Given the description of an element on the screen output the (x, y) to click on. 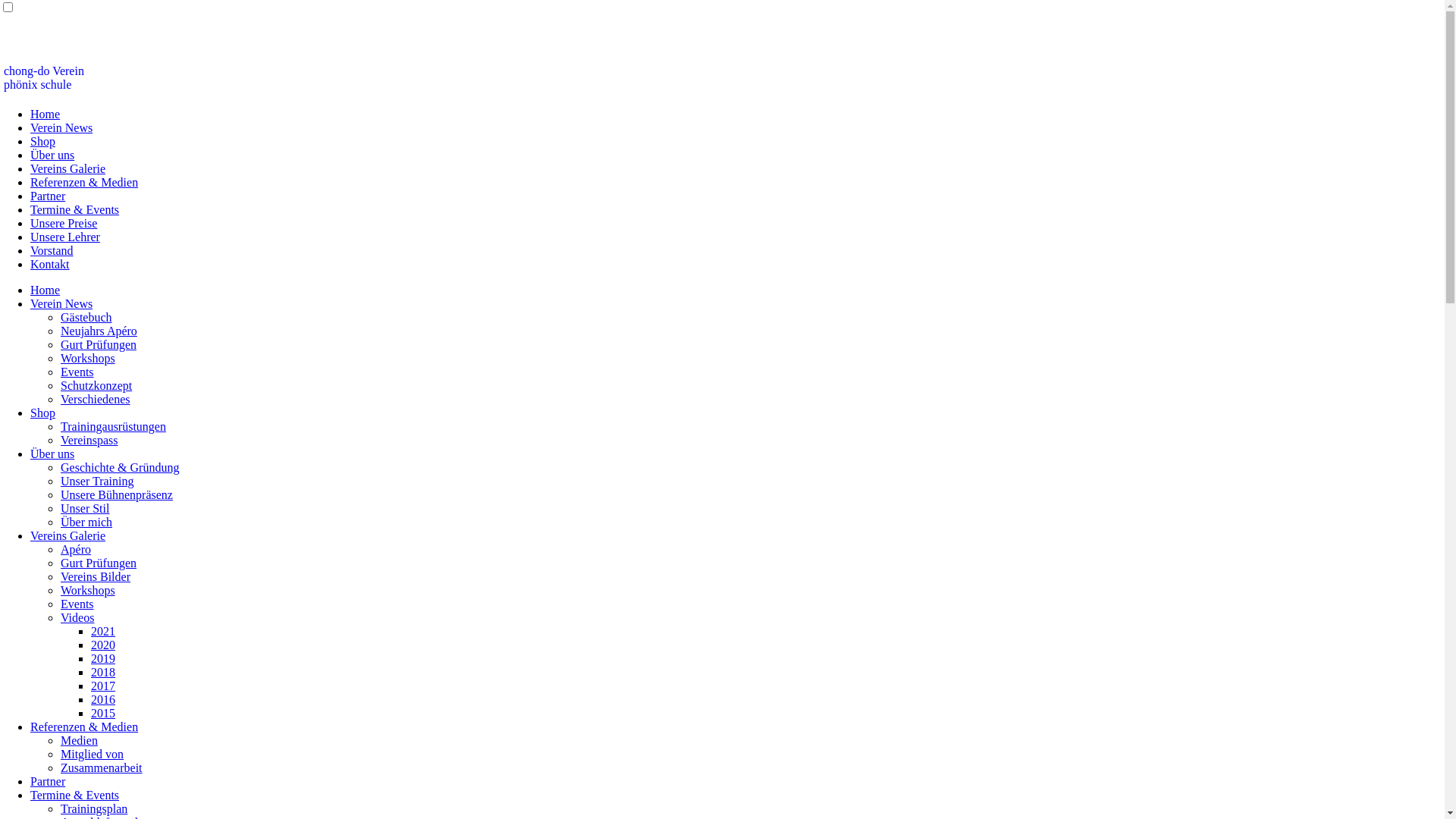
2015 Element type: text (103, 712)
Verein News Element type: text (61, 303)
Vorstand Element type: text (51, 250)
Home Element type: text (44, 289)
Mitglied von Element type: text (91, 753)
Verschiedenes Element type: text (95, 398)
Shop Element type: text (42, 412)
Kontakt Element type: text (49, 263)
Vereins Galerie Element type: text (67, 535)
2018 Element type: text (103, 671)
Termine & Events Element type: text (74, 209)
Events Element type: text (77, 603)
Workshops Element type: text (87, 589)
Unsere Preise Element type: text (63, 222)
Trainingsplan Element type: text (93, 808)
2021 Element type: text (103, 630)
Vereins Galerie Element type: text (67, 168)
2016 Element type: text (103, 699)
Workshops Element type: text (87, 357)
Schutzkonzept Element type: text (95, 385)
2019 Element type: text (103, 658)
Partner Element type: text (47, 781)
2020 Element type: text (103, 644)
2017 Element type: text (103, 685)
Unsere Lehrer Element type: text (65, 236)
Events Element type: text (77, 371)
Referenzen & Medien Element type: text (84, 726)
Home Element type: text (44, 113)
Zusammenarbeit Element type: text (101, 767)
Vereinspass Element type: text (89, 439)
Referenzen & Medien Element type: text (84, 181)
Medien Element type: text (78, 740)
Shop Element type: text (42, 140)
Vereins Bilder Element type: text (95, 576)
Videos Element type: text (77, 617)
Unser Training Element type: text (96, 480)
Partner Element type: text (47, 195)
Unser Stil Element type: text (84, 508)
Termine & Events Element type: text (74, 794)
Verein News Element type: text (61, 127)
